Given the description of an element on the screen output the (x, y) to click on. 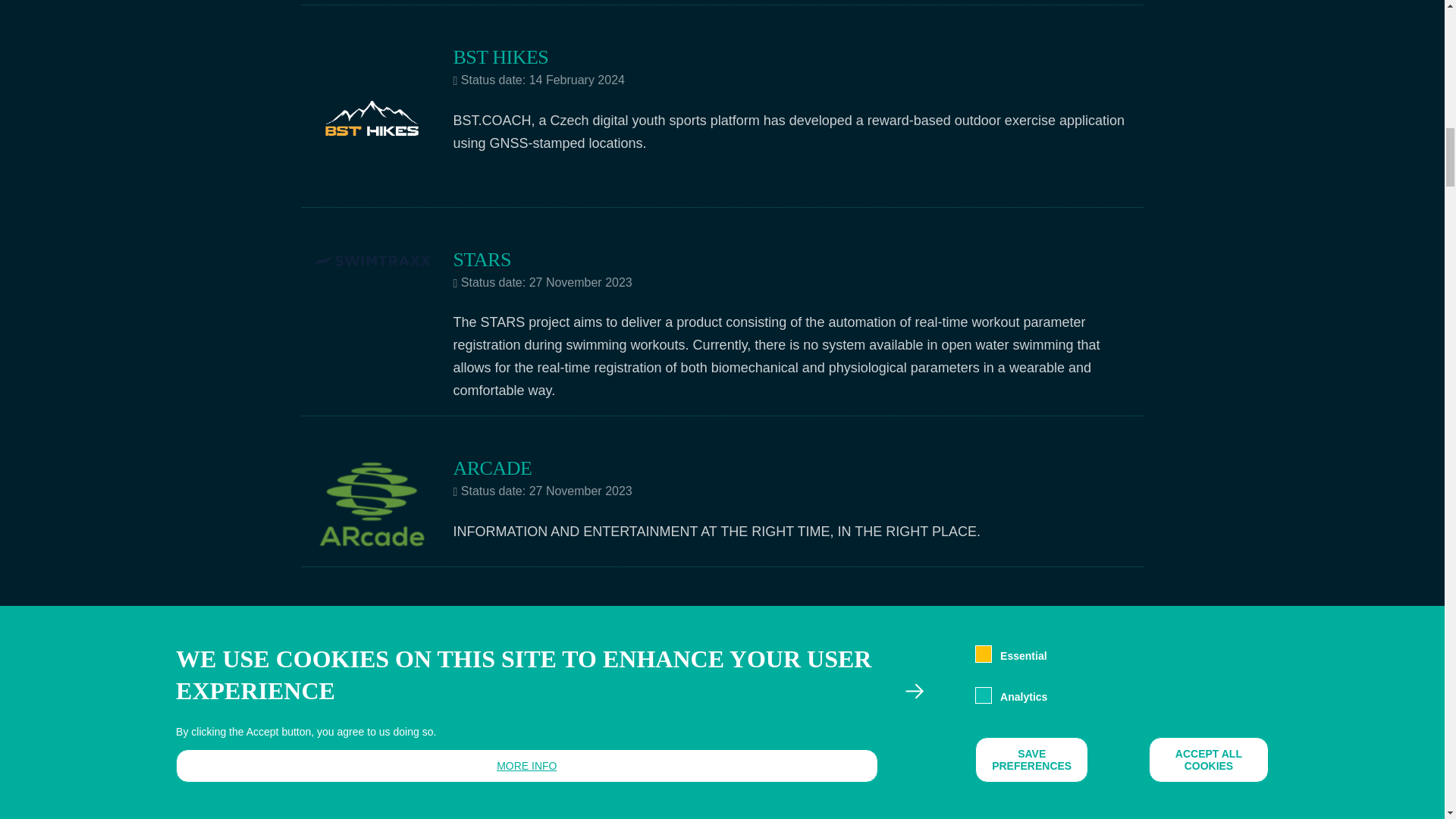
ARCADE (492, 468)
BST HIKES (500, 56)
STARS (481, 259)
